Given the description of an element on the screen output the (x, y) to click on. 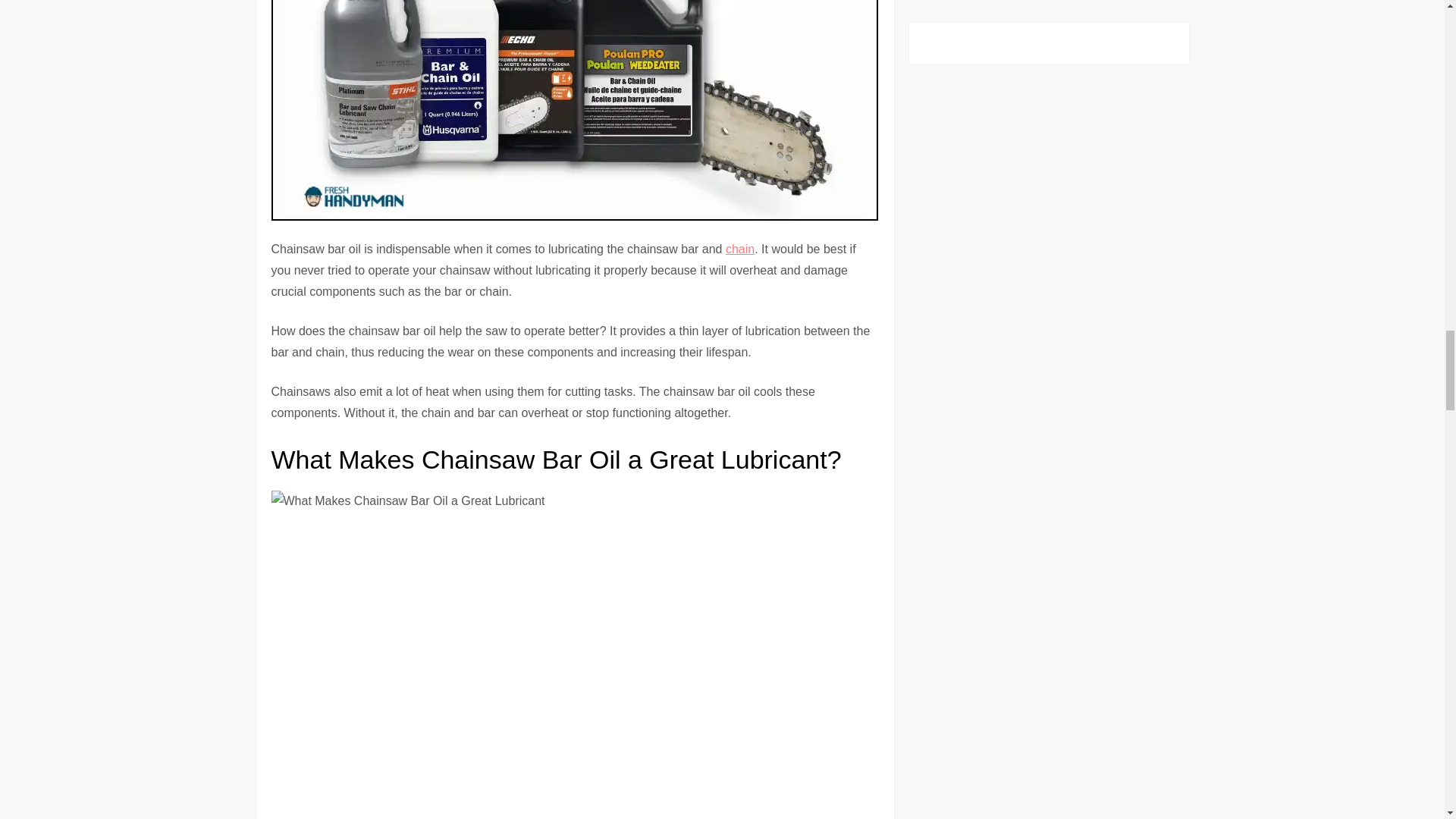
chain (739, 248)
